Given the description of an element on the screen output the (x, y) to click on. 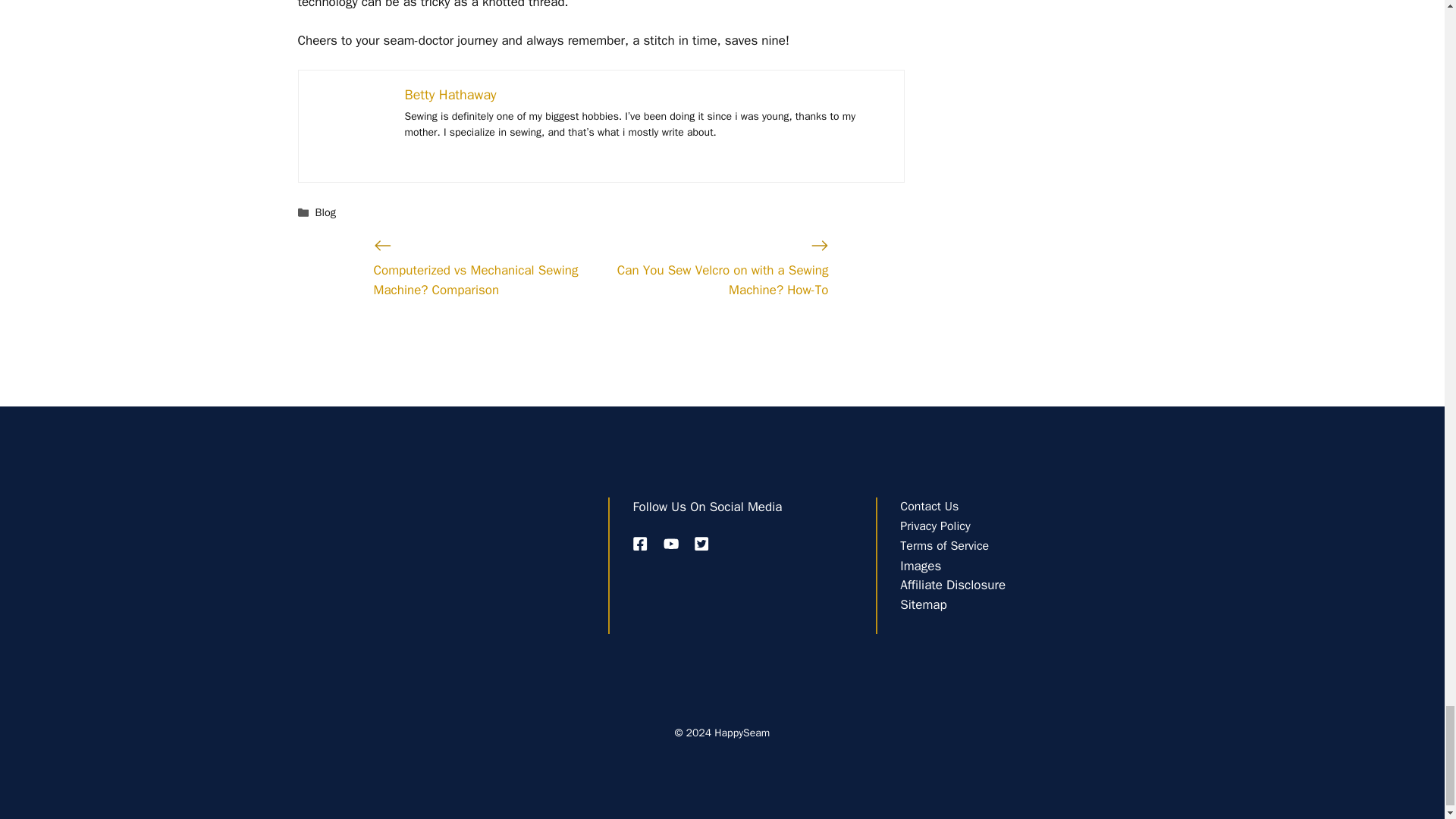
Contact Us (928, 506)
Affiliate Disclosure (952, 584)
Betty Hathaway (450, 94)
Computerized vs Mechanical Sewing Machine? Comparison (475, 280)
Terms of Service (943, 546)
Blog (325, 212)
Images (919, 565)
Can You Sew Velcro on with a Sewing Machine? How-To (722, 280)
Sitemap (922, 604)
web-size-menu (402, 535)
